Given the description of an element on the screen output the (x, y) to click on. 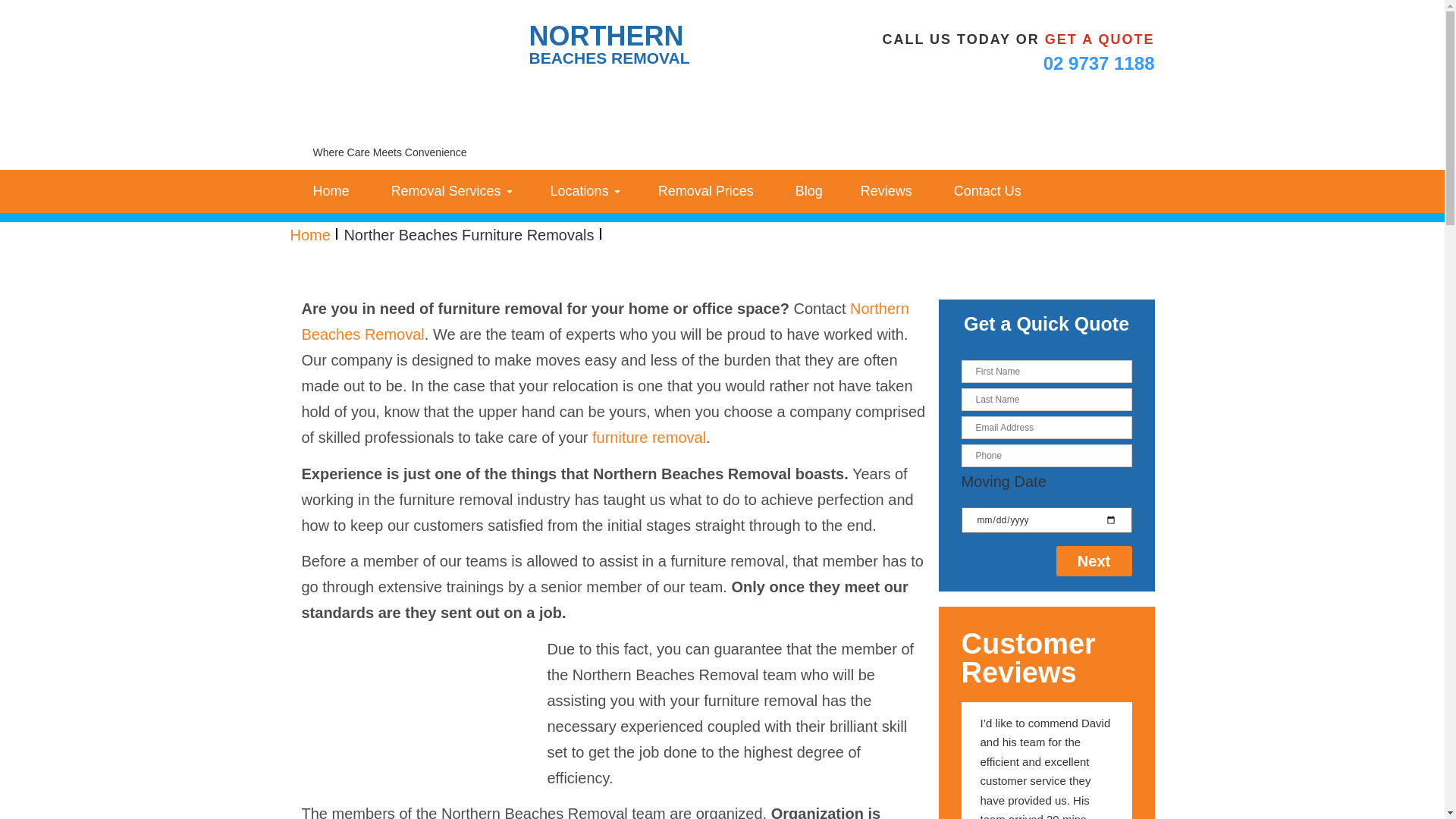
Northern Beaches Removal Element type: text (605, 321)
furniture removal Element type: text (649, 437)
 Removal Services Element type: text (449, 191)
 Contact Us Element type: text (985, 191)
Submit Element type: text (1233, 574)
Home Element type: text (309, 234)
Reviews Element type: text (886, 191)
02 9737 1188 Element type: text (1098, 63)
Locations Element type: text (585, 191)
GET A QUOTE Element type: text (1099, 39)
 Blog Element type: text (806, 191)
Next Element type: text (1093, 561)
Northern Beaches Removalist Element type: hover (408, 70)
Removal Prices Element type: text (705, 191)
NORTHERN
BEACHES REMOVAL Element type: text (535, 86)
 Home Element type: text (329, 191)
